Given the description of an element on the screen output the (x, y) to click on. 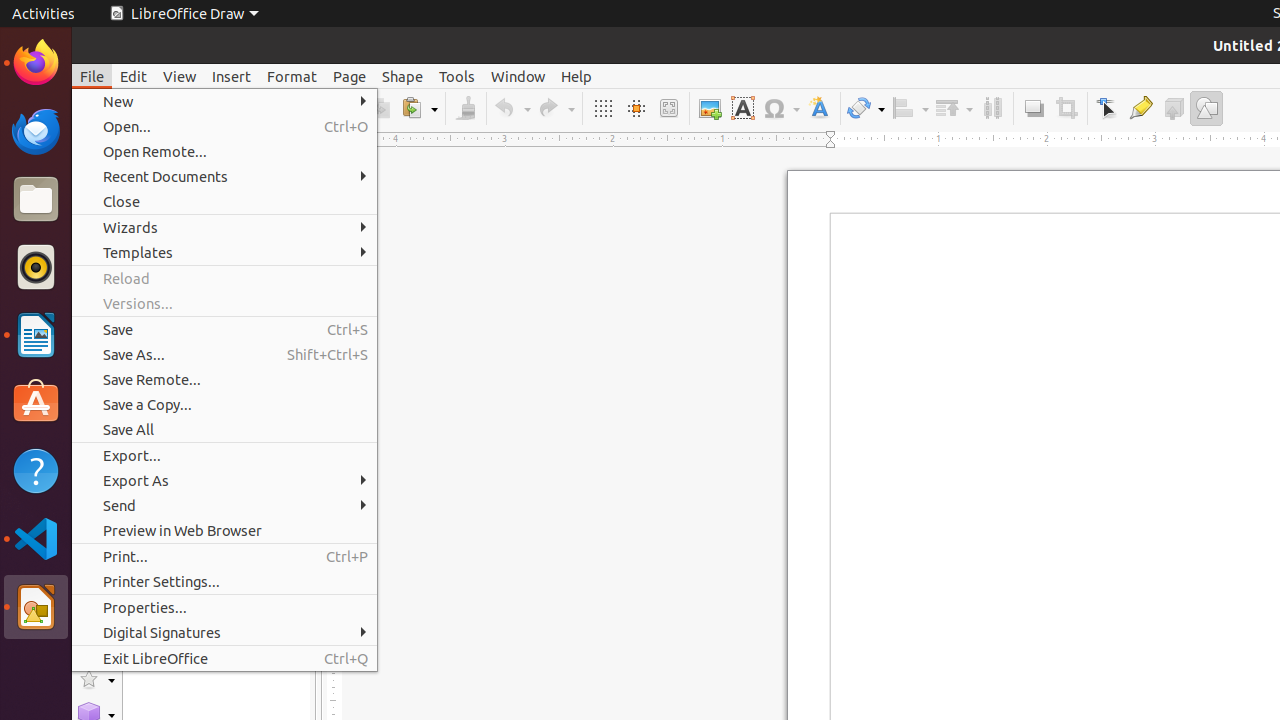
Shape Element type: menu (402, 76)
Versions... Element type: menu-item (224, 303)
Close Element type: menu-item (224, 201)
Helplines While Moving Element type: toggle-button (635, 108)
File Element type: menu (92, 76)
